Given the description of an element on the screen output the (x, y) to click on. 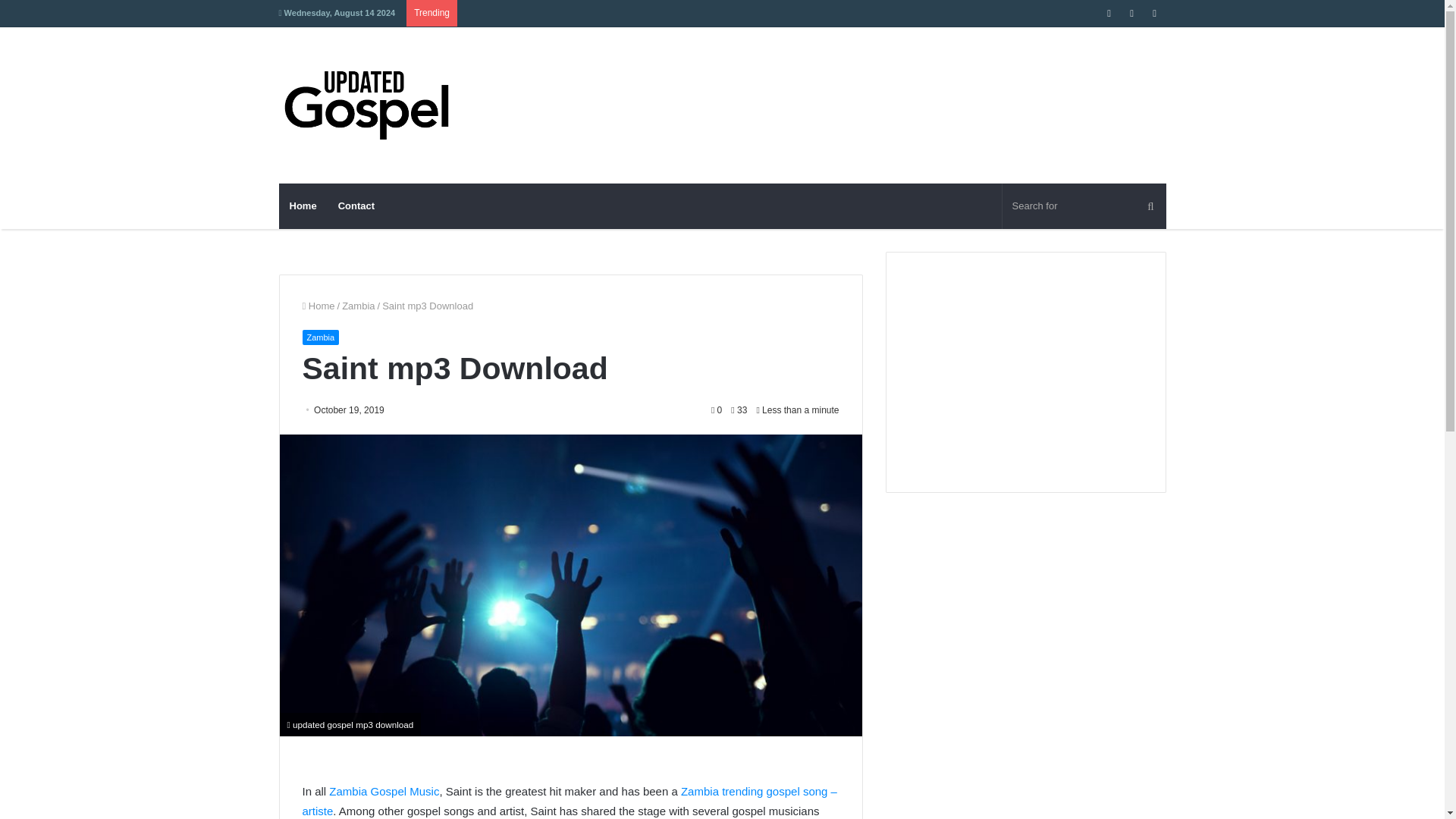
Home (317, 306)
Home (303, 206)
Contact (356, 206)
Updated Gospel (374, 105)
Zambia (320, 337)
Zambia (358, 306)
Zambia Gospel Music (384, 790)
Advertisement (873, 76)
0 (716, 409)
